Given the description of an element on the screen output the (x, y) to click on. 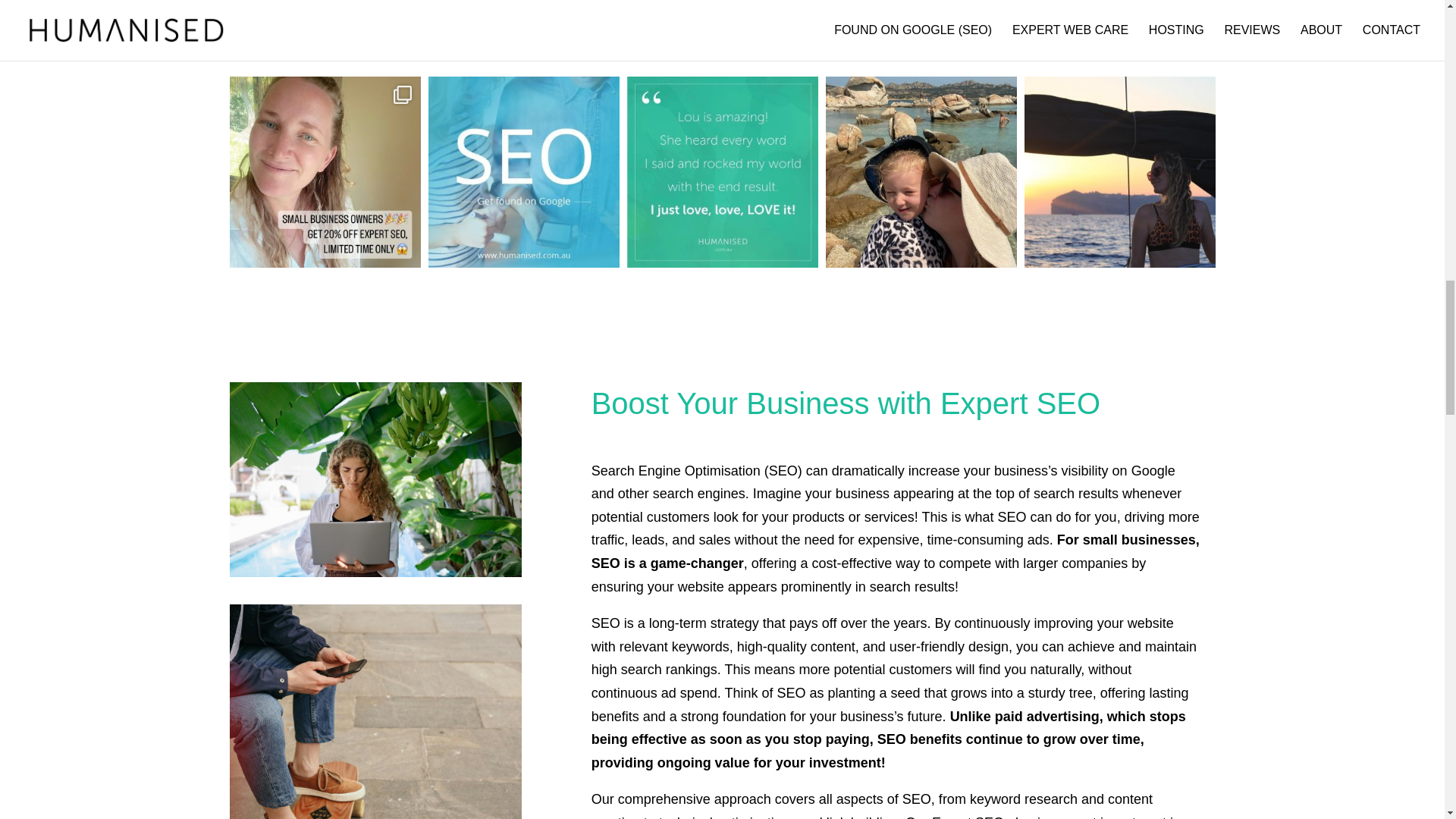
tweedcoastwebsites (721, 39)
pexels-maksgelatin-4663825 (374, 711)
pexels-yan-krukau-4458345 (374, 479)
